Given the description of an element on the screen output the (x, y) to click on. 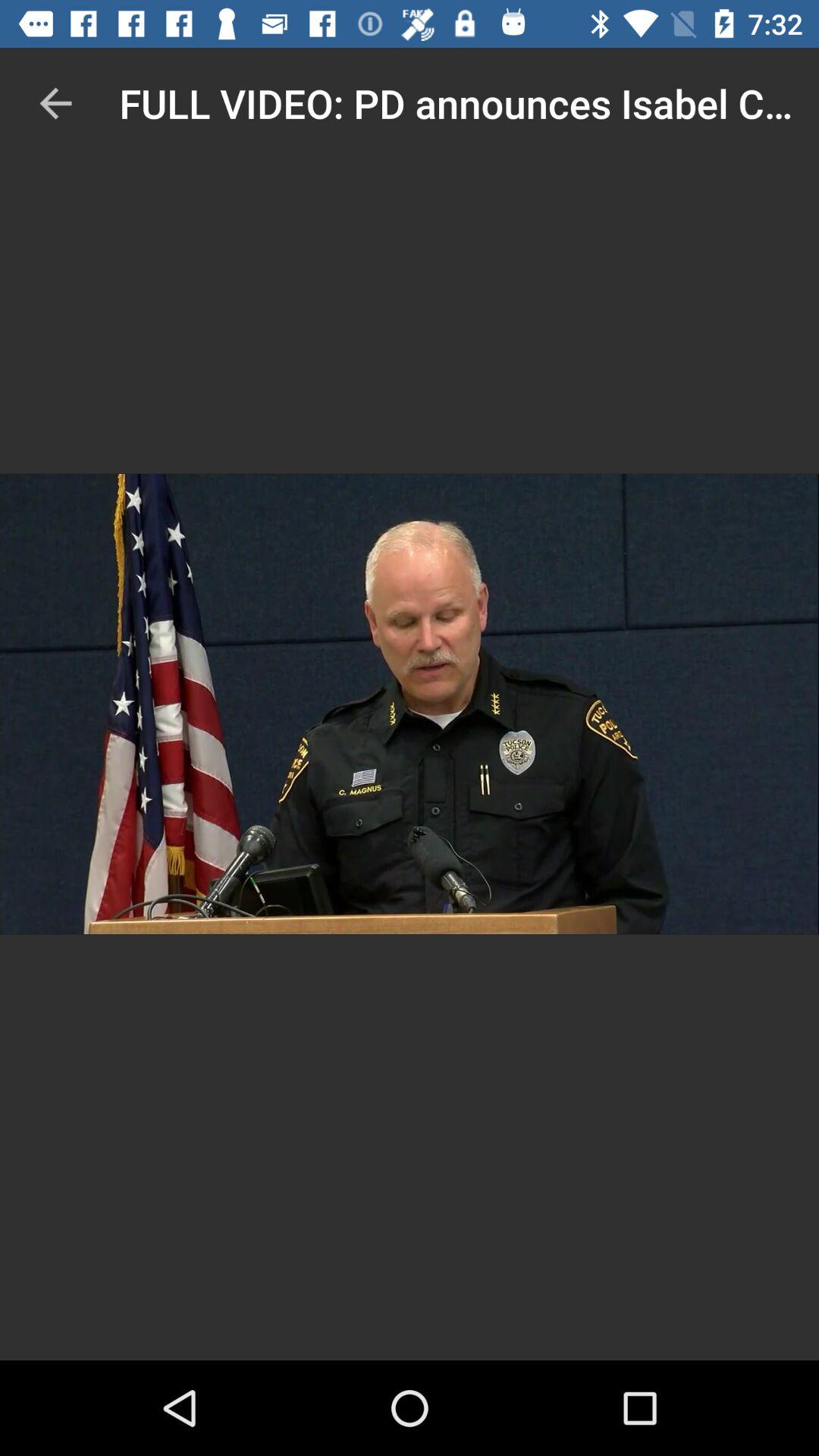
press icon next to the full video pd item (55, 103)
